Given the description of an element on the screen output the (x, y) to click on. 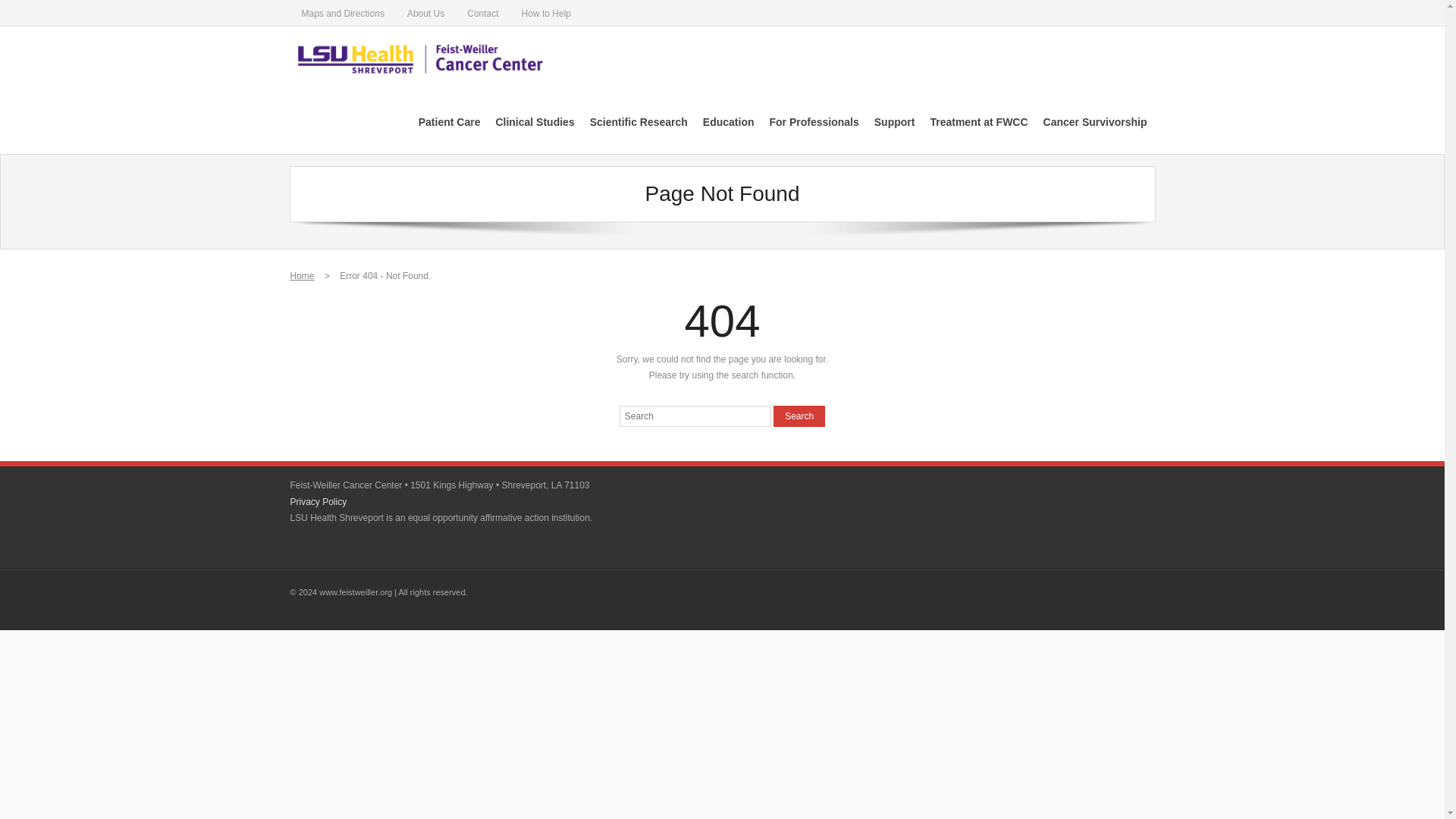
Contact (482, 12)
Maps and Directions (341, 12)
Privacy Policy (317, 501)
How to Help (546, 12)
Home (301, 276)
For Professionals (813, 121)
Search (799, 415)
Scientific Research (638, 121)
Treatment at FWCC (978, 121)
Patient Care (448, 121)
